Given the description of an element on the screen output the (x, y) to click on. 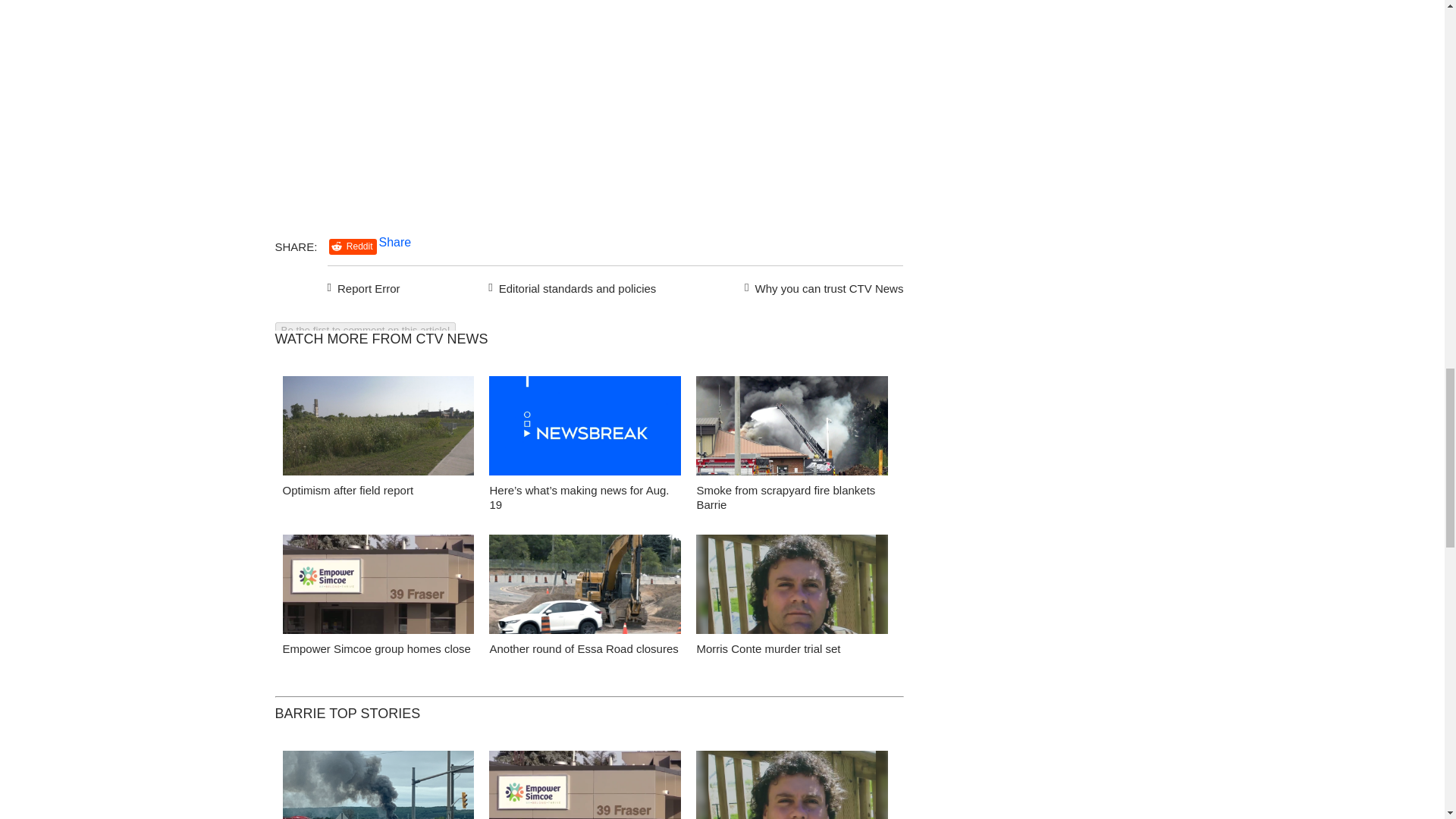
Morris Conte murder trial set (767, 648)
Be the first to comment on this article! (365, 330)
false (585, 583)
Barrie promo Newsbreak (585, 429)
false (791, 425)
Smoke from scrapyard fire blankets Barrie (791, 429)
Reddit (353, 246)
Optimism after field report (378, 429)
Smoke from scrapyard fire blankets Barrie (785, 497)
Share (395, 241)
